Given the description of an element on the screen output the (x, y) to click on. 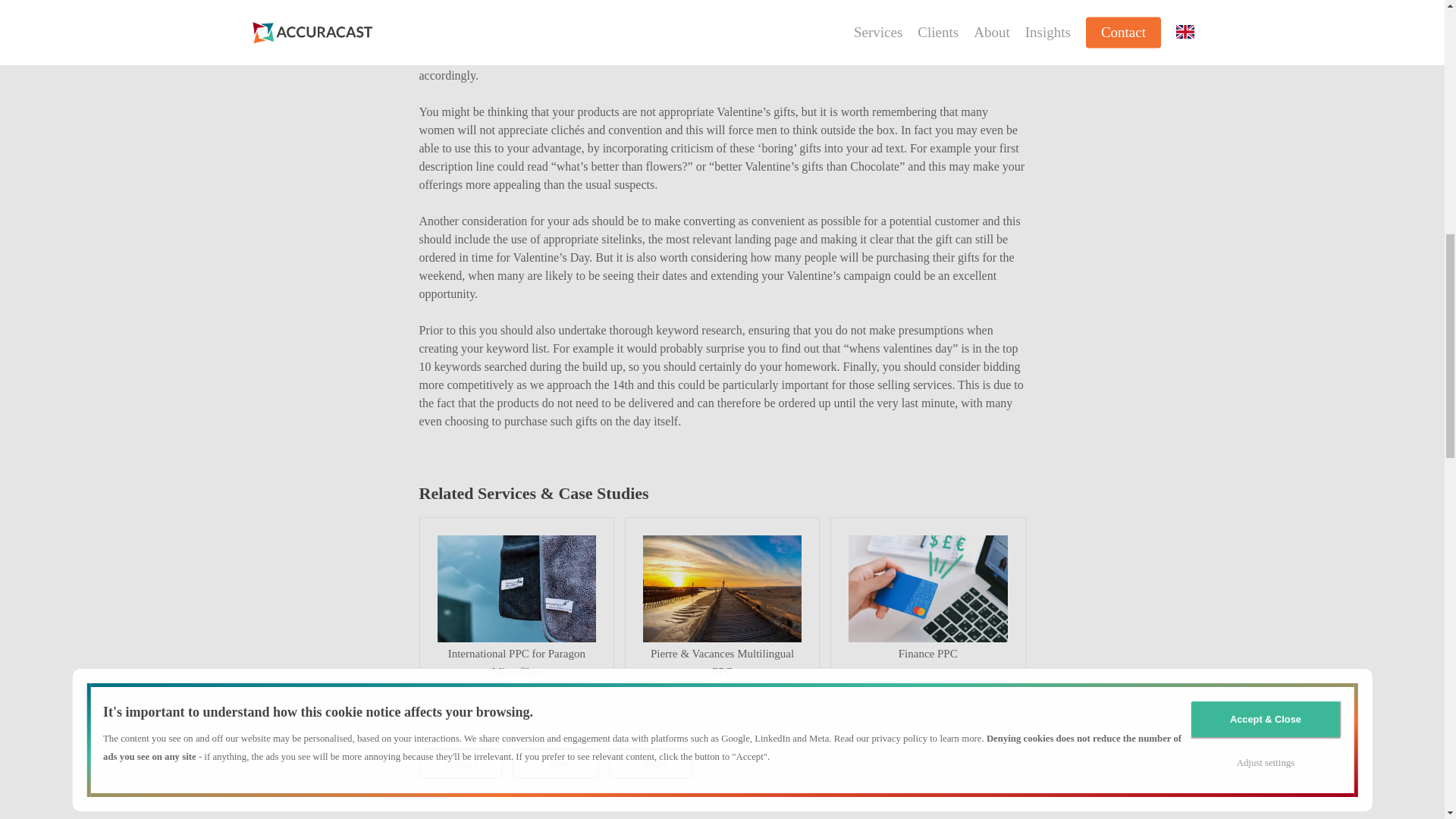
Tweet this (555, 763)
Share this (650, 763)
International PPC for Paragon Microfibre (515, 588)
Finance PPC (927, 588)
Share this (461, 763)
